Given the description of an element on the screen output the (x, y) to click on. 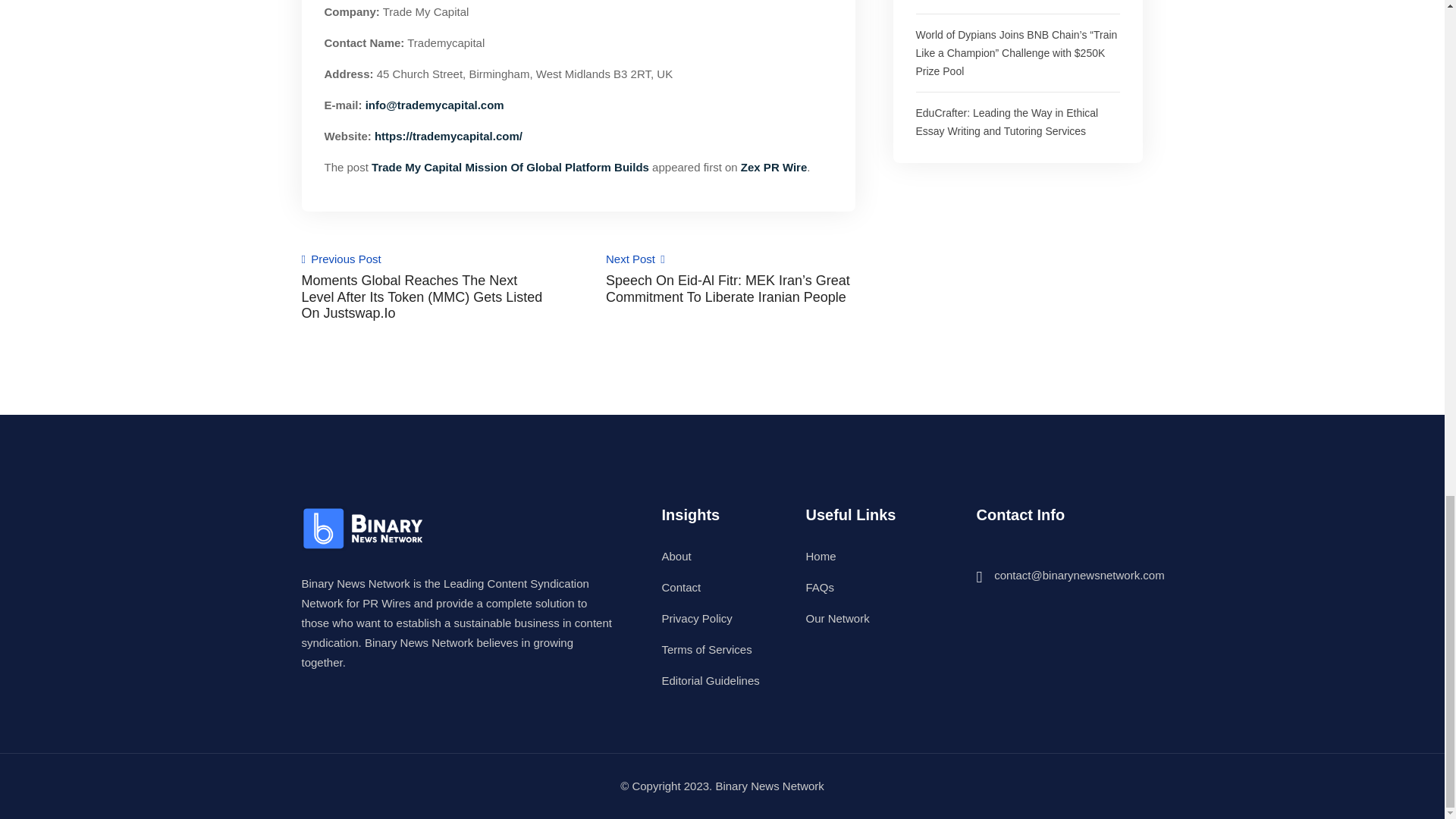
Contact (680, 586)
Terms of Services (706, 649)
Home (820, 555)
Privacy Policy (696, 617)
Trade My Capital Mission Of Global Platform Builds (510, 166)
Zex PR Wire (773, 166)
Editorial Guidelines (709, 680)
About (675, 555)
